Given the description of an element on the screen output the (x, y) to click on. 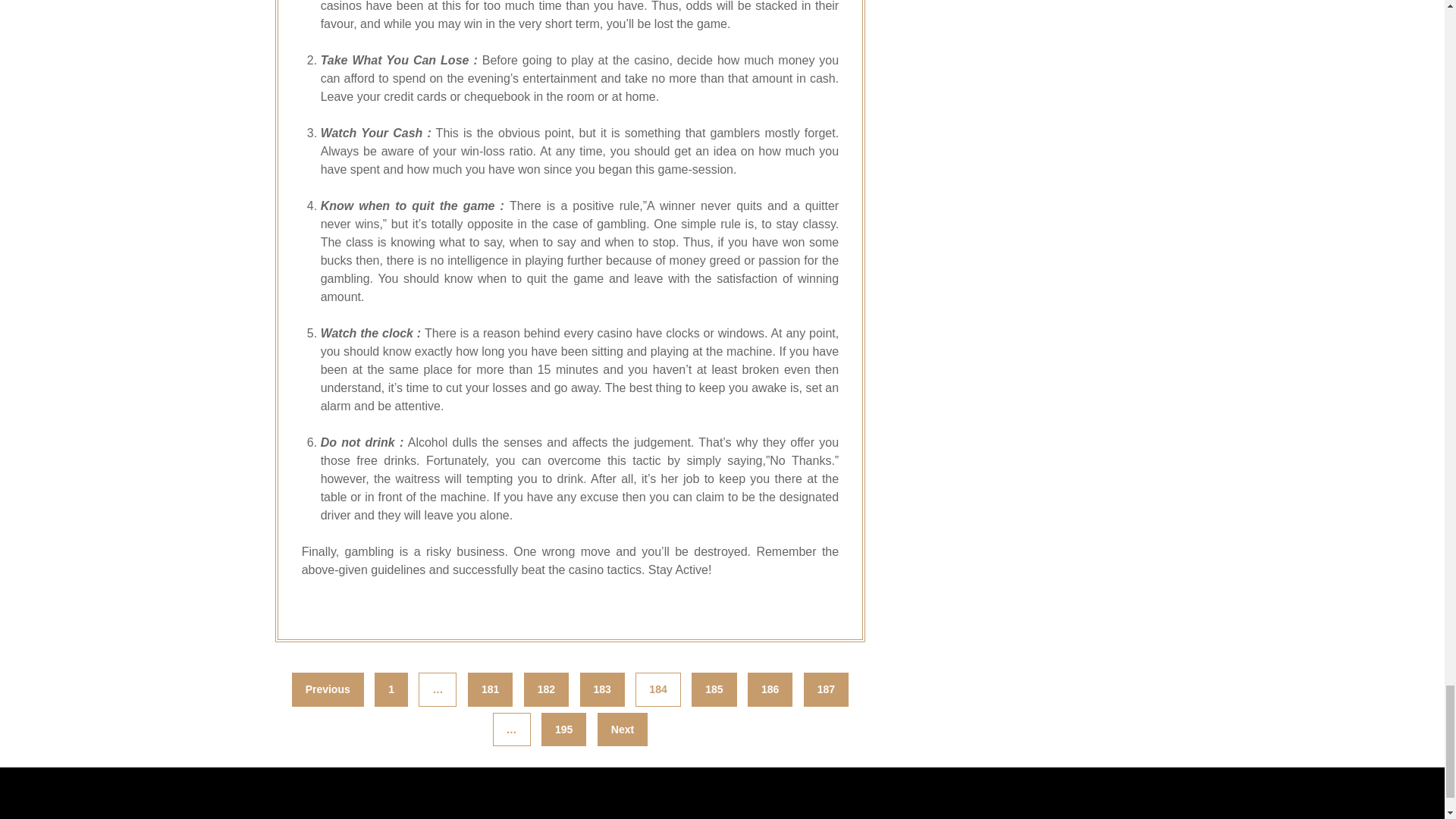
195 (563, 729)
186 (770, 689)
1 (390, 689)
Next (621, 729)
187 (825, 689)
185 (713, 689)
183 (601, 689)
Previous (328, 689)
181 (489, 689)
182 (546, 689)
